Given the description of an element on the screen output the (x, y) to click on. 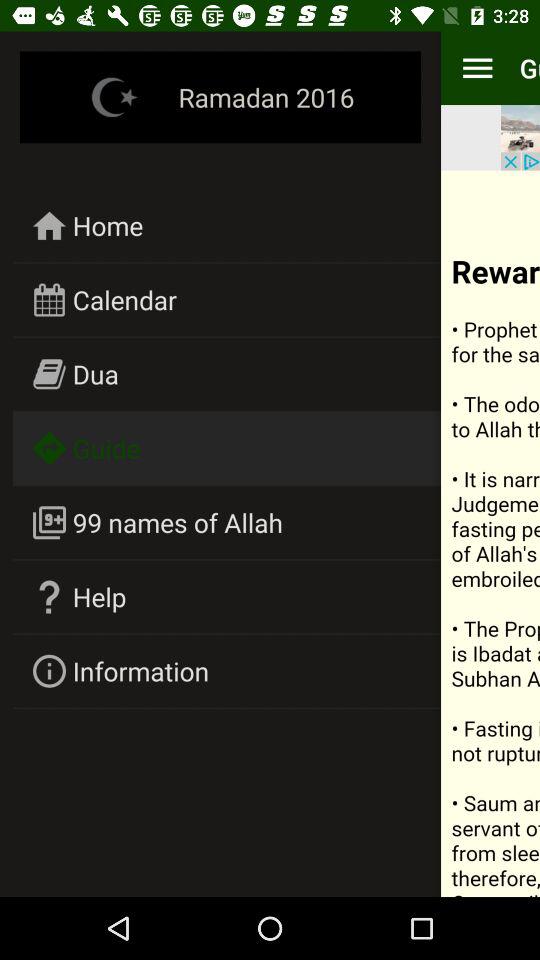
share the article (490, 533)
